Given the description of an element on the screen output the (x, y) to click on. 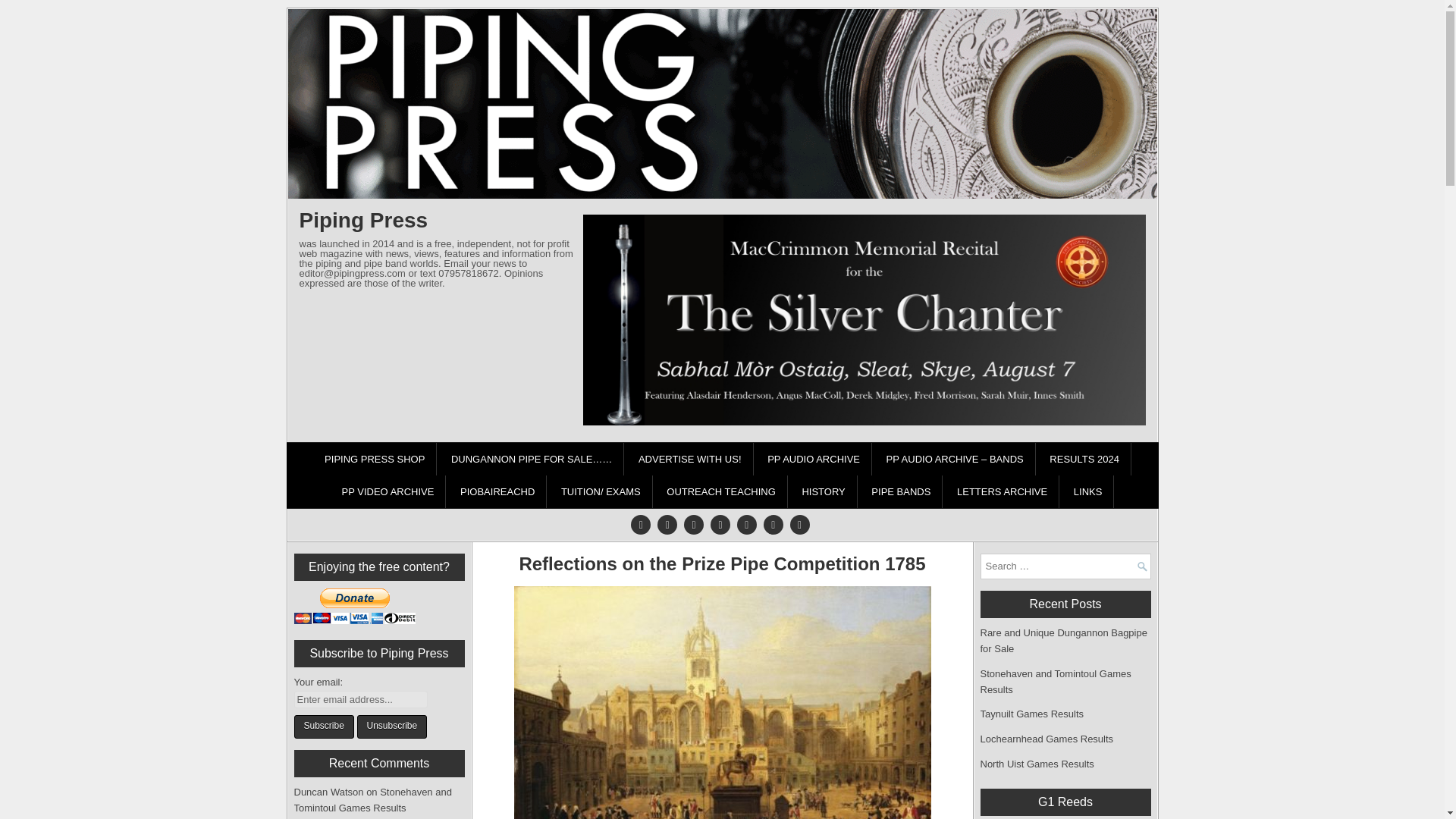
LINKS (1088, 490)
ADVERTISE WITH US! (690, 459)
LETTERS ARCHIVE (1001, 490)
PP VIDEO ARCHIVE (388, 490)
Piping Press (363, 219)
PP AUDIO ARCHIVE (813, 459)
Subscribe (323, 726)
Reflections on the Prize Pipe Competition 1785 (721, 564)
PIPING PRESS SHOP (374, 459)
PIPE BANDS (901, 490)
Unsubscribe (391, 726)
Facebook (667, 523)
HISTORY (823, 490)
RESULTS 2024 (1084, 459)
PIOBAIREACHD (497, 490)
